Given the description of an element on the screen output the (x, y) to click on. 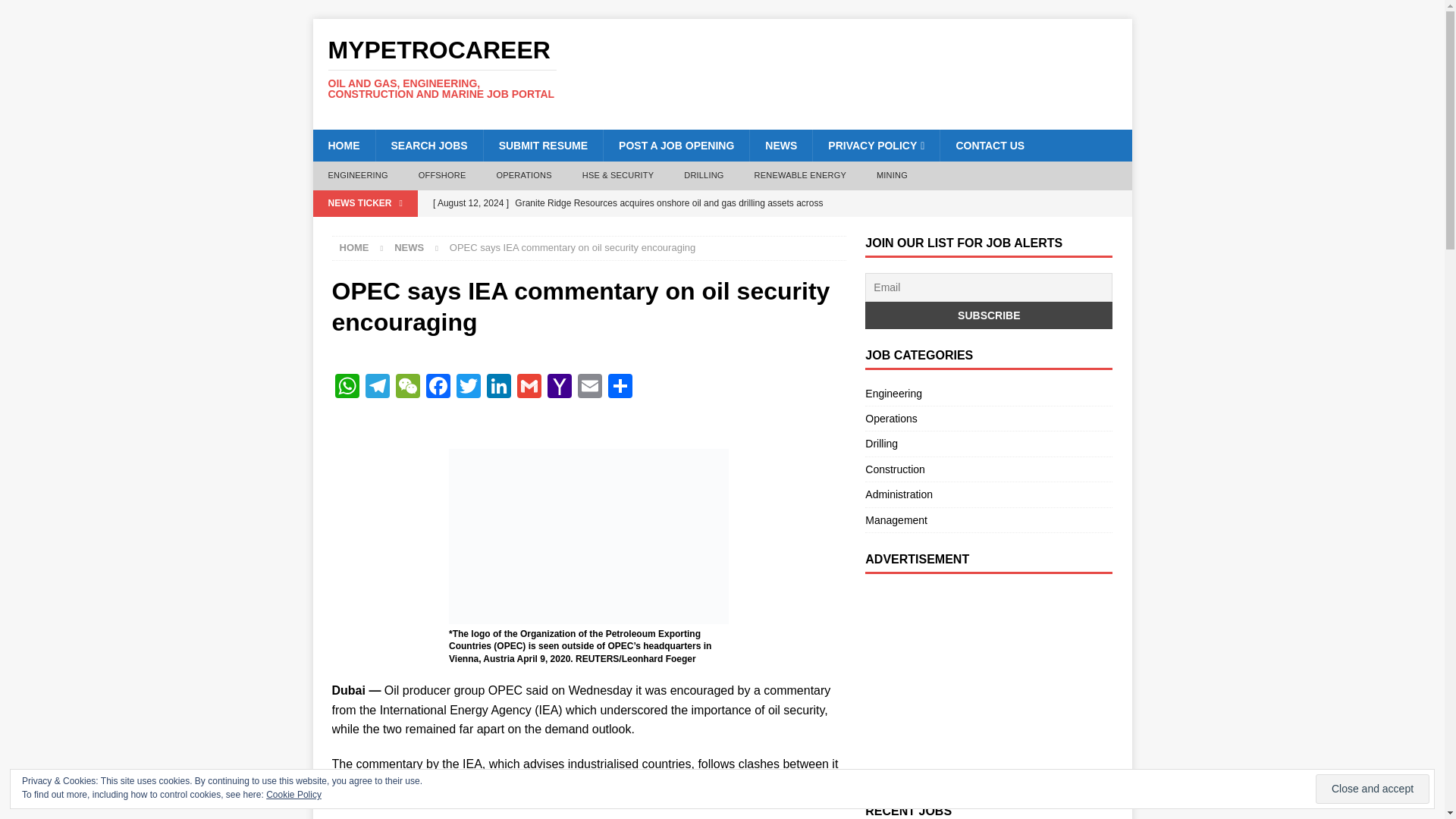
News (408, 247)
POST A JOB OPENING (675, 145)
OFFSHORE (442, 175)
Email (590, 387)
MyPetroCareer (441, 68)
WeChat (408, 387)
Twitter (467, 387)
NEWS (408, 247)
Facebook (437, 387)
